Given the description of an element on the screen output the (x, y) to click on. 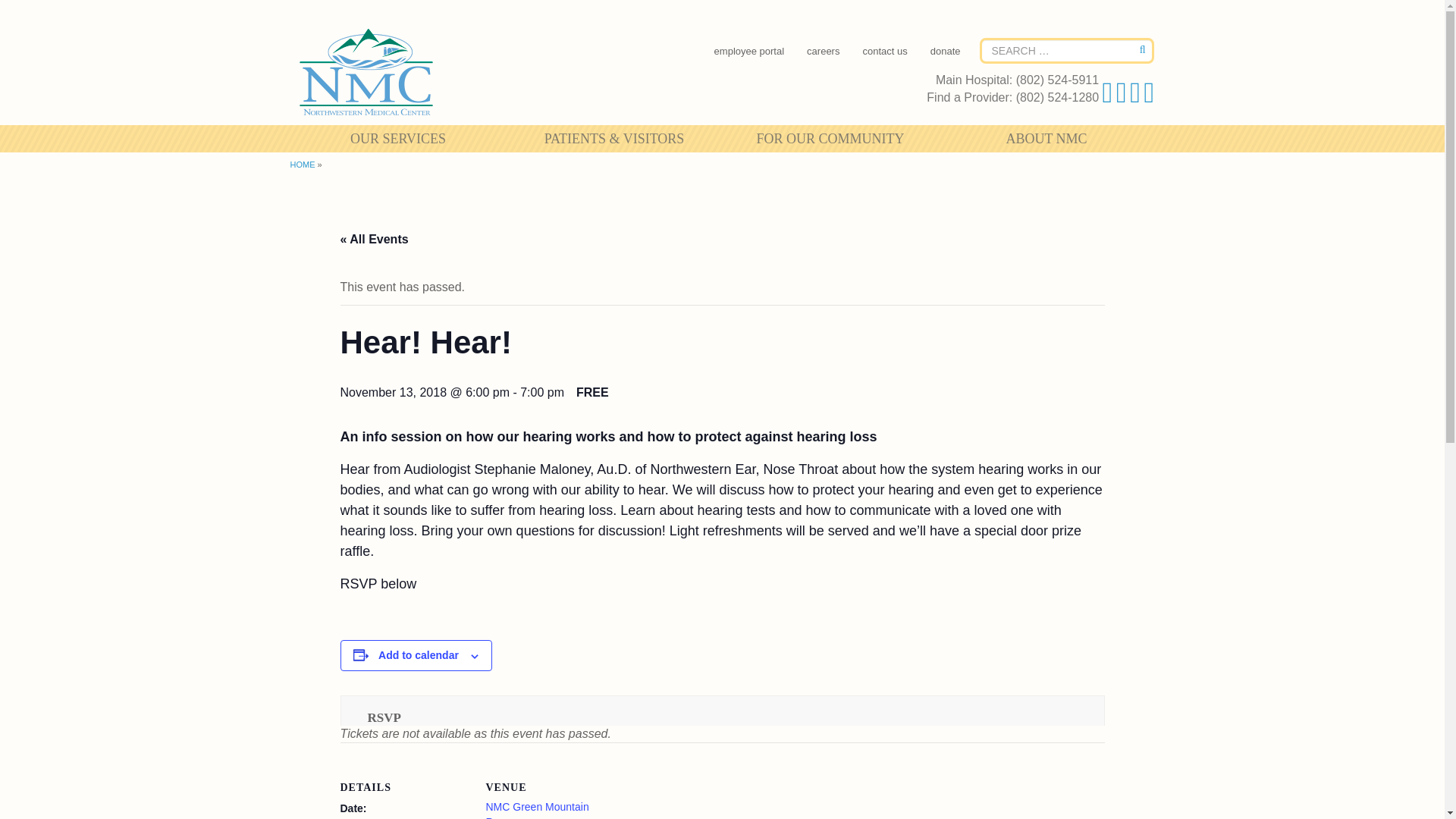
contact us (885, 50)
donate (946, 50)
Our Services (397, 138)
careers (823, 50)
Northwestern Medical Center (367, 72)
Northwestern Medical Center (367, 72)
OUR SERVICES (397, 138)
Search for: (1066, 50)
employee portal (749, 50)
